Given the description of an element on the screen output the (x, y) to click on. 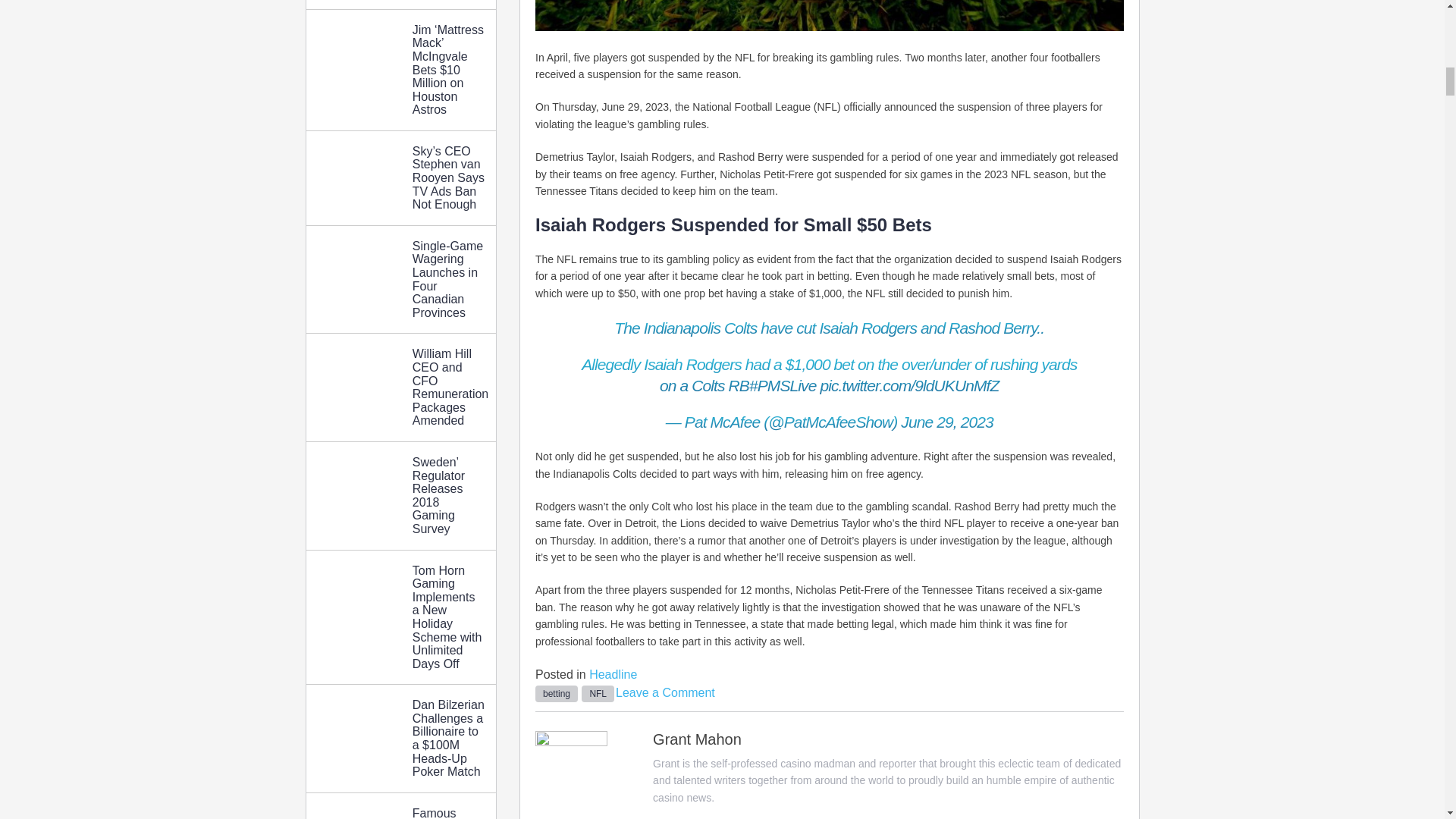
betting (556, 693)
June 29, 2023 (946, 421)
Headline (613, 674)
NFL (597, 693)
